Given the description of an element on the screen output the (x, y) to click on. 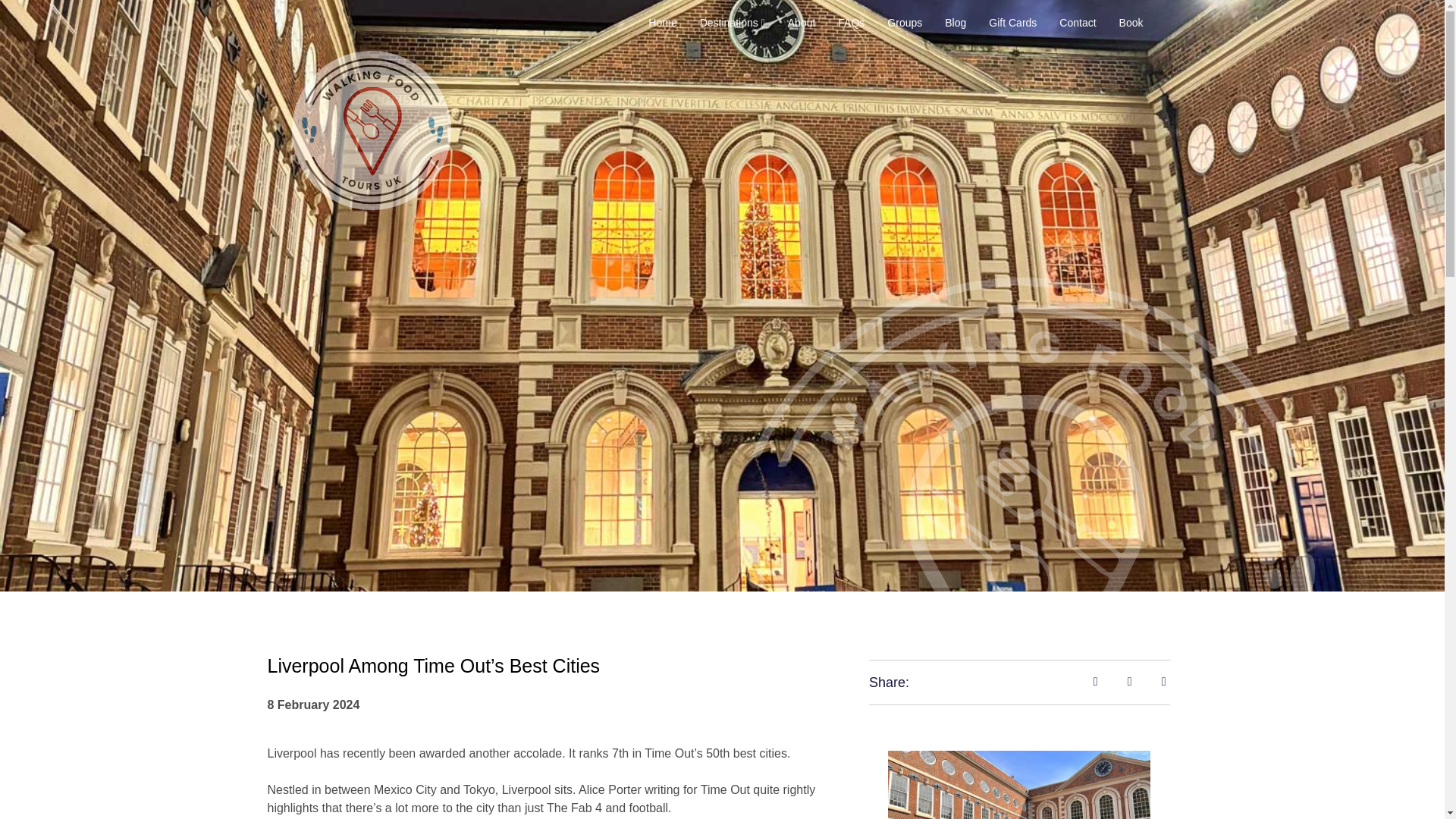
Home (662, 22)
Book (1131, 22)
8 February 2024 (312, 705)
Destinations (733, 22)
Contact (1077, 22)
Groups (904, 22)
Gift Cards (1012, 22)
Blog (955, 22)
About (802, 22)
FAQs (850, 22)
